Given the description of an element on the screen output the (x, y) to click on. 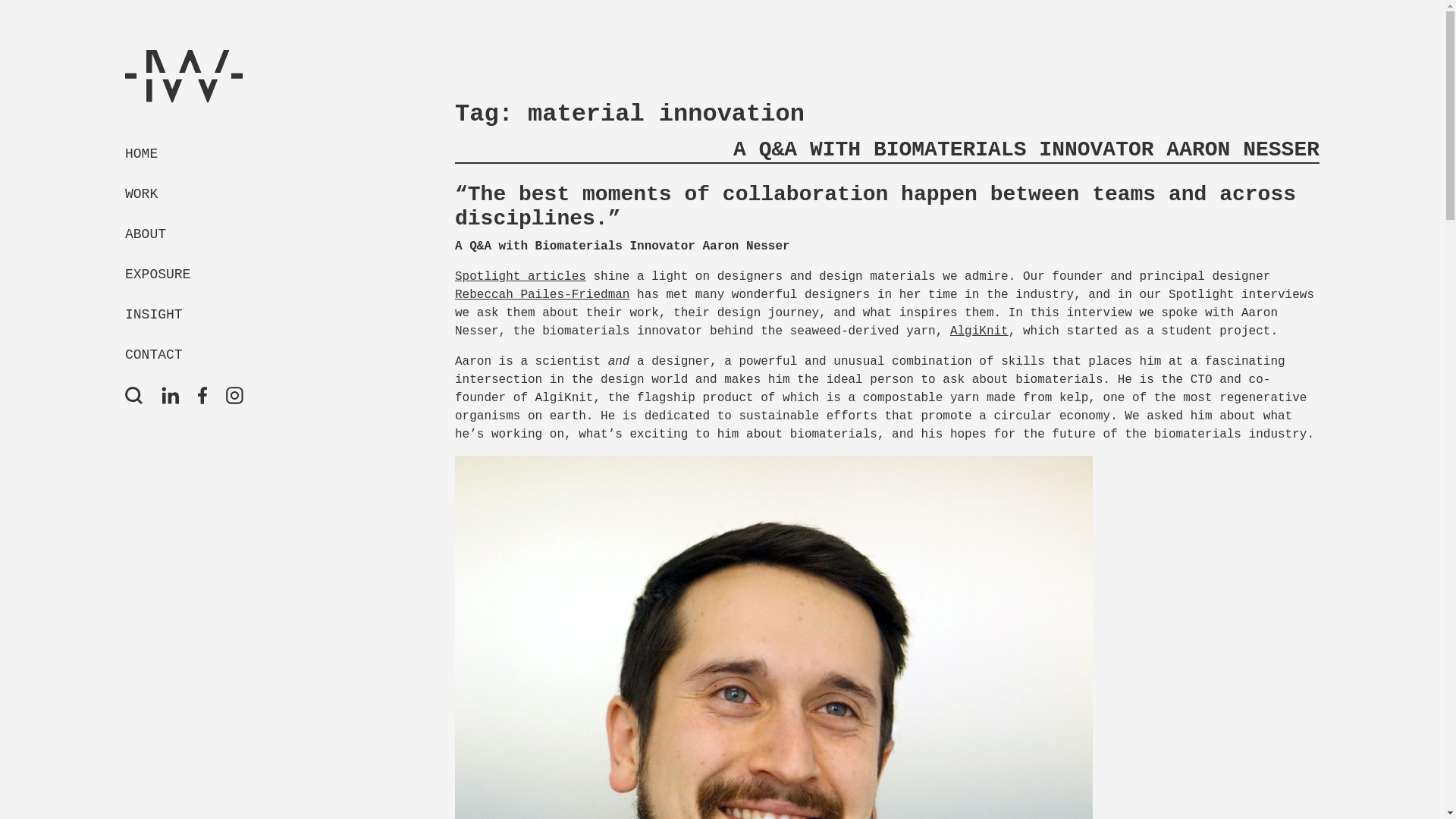
ABOUT (221, 234)
WORK (221, 194)
AlgiKnit (979, 331)
EXPOSURE (221, 274)
Spotlight articles (520, 276)
Rebeccah Pailes-Friedman (541, 295)
INSIGHT (221, 314)
CONTACT (221, 354)
HOME (221, 154)
